Given the description of an element on the screen output the (x, y) to click on. 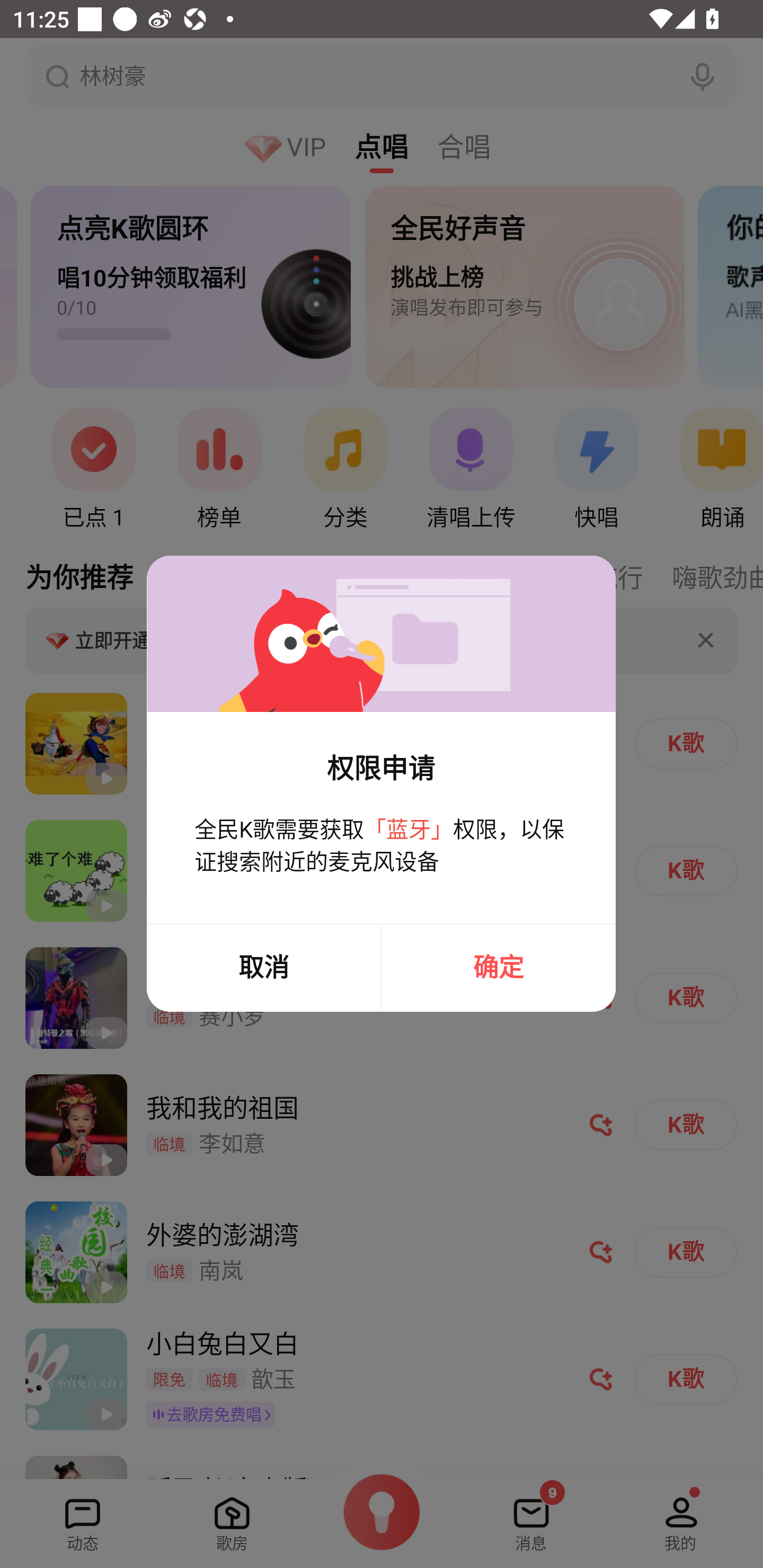
取消 (263, 968)
确定 (498, 968)
